Given the description of an element on the screen output the (x, y) to click on. 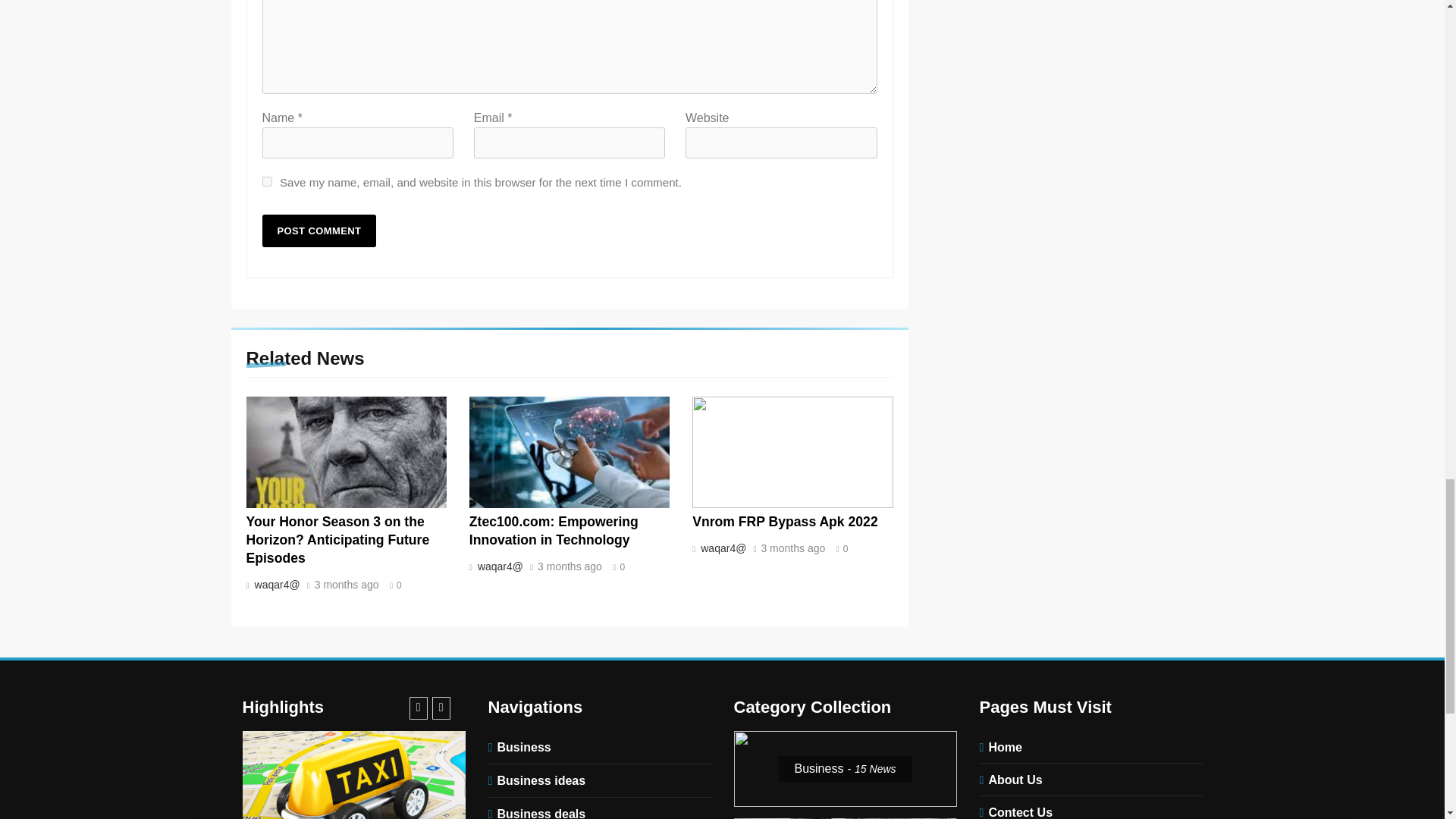
Post Comment (319, 230)
yes (267, 181)
Ztec100.com: Empowering Innovation in Technology (553, 530)
Post Comment (319, 230)
3 months ago (346, 584)
